Given the description of an element on the screen output the (x, y) to click on. 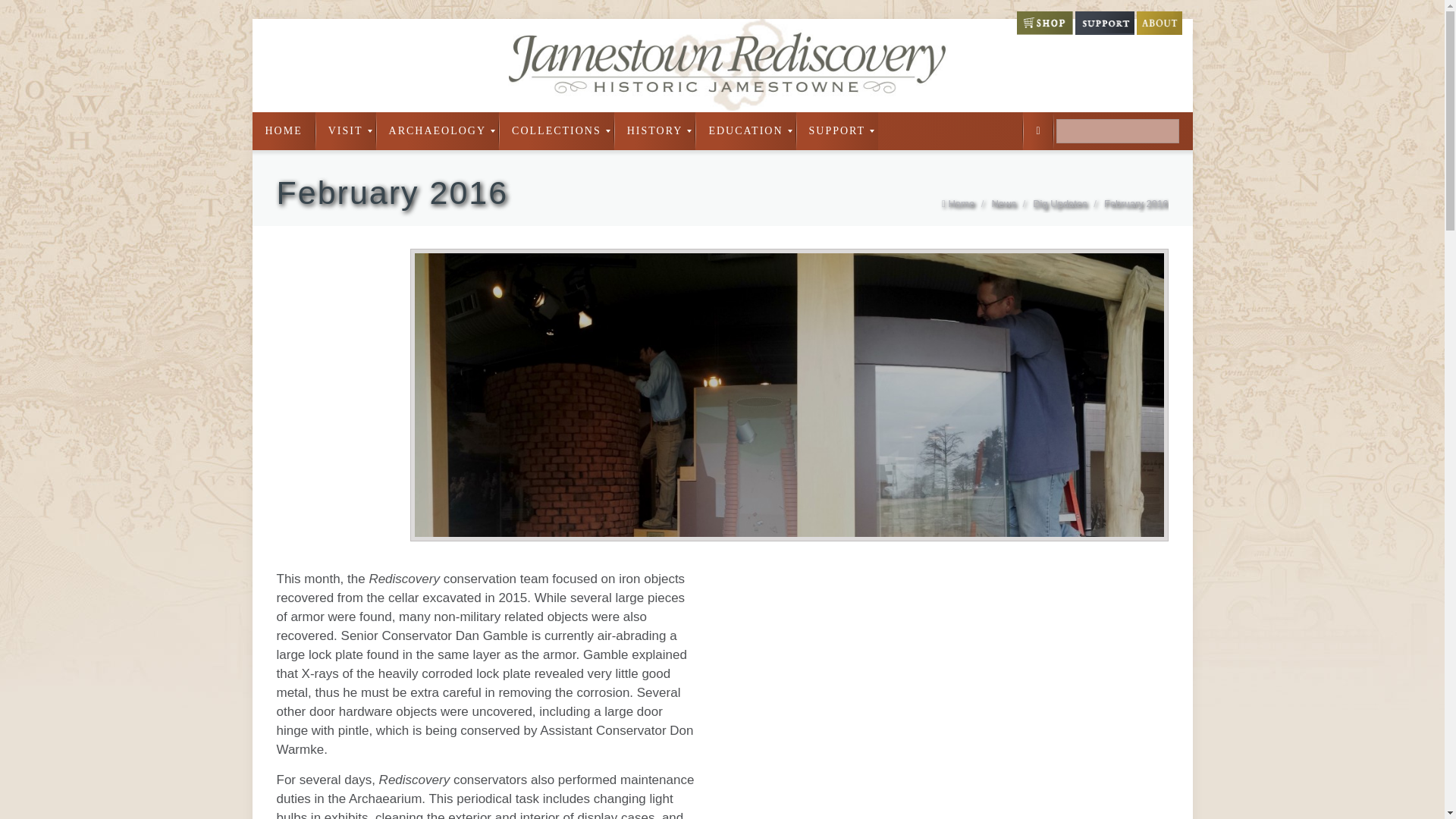
HISTORY (654, 130)
ARCHAEOLOGY (437, 130)
COLLECTIONS (556, 130)
Historic Jamestowne (721, 65)
shop (1043, 30)
VISIT (345, 130)
HOME (282, 130)
